Given the description of an element on the screen output the (x, y) to click on. 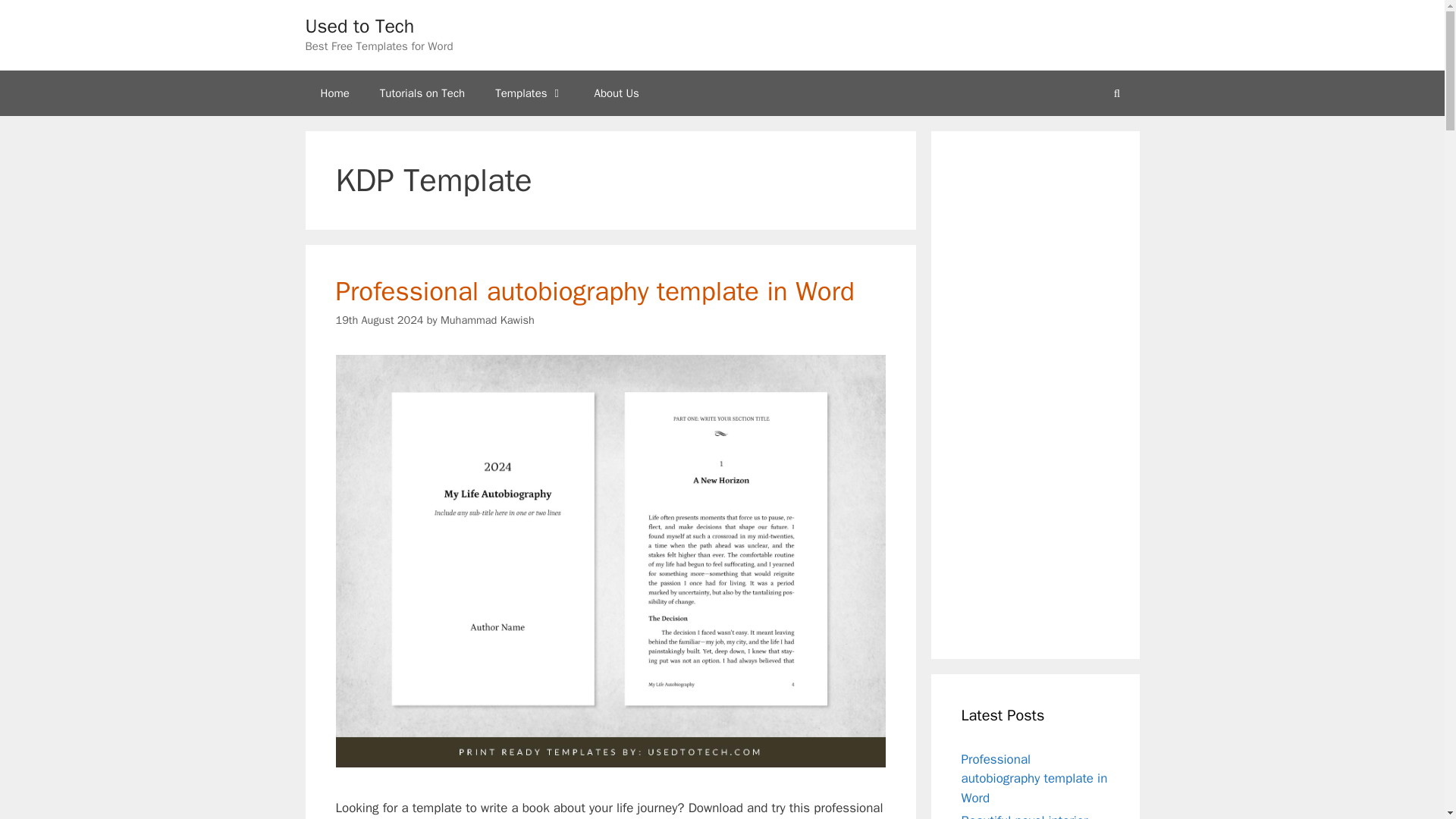
View all posts by Muhammad Kawish (487, 319)
About Us (616, 92)
Muhammad Kawish (487, 319)
Tutorials on Tech (422, 92)
Home (334, 92)
Templates (529, 92)
Professional autobiography template in Word (593, 290)
Used to Tech (358, 25)
